Given the description of an element on the screen output the (x, y) to click on. 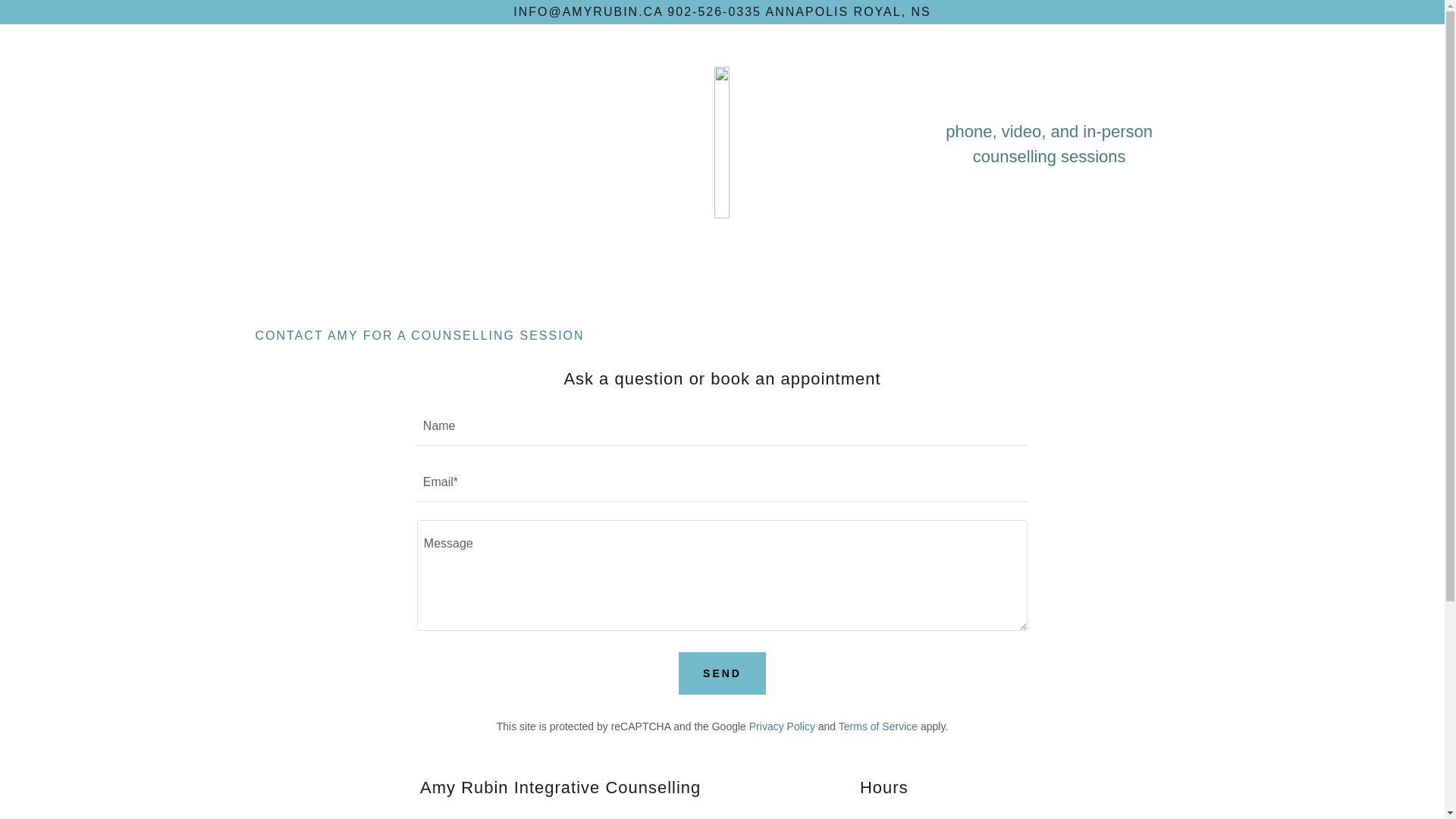
Privacy Policy Element type: text (782, 726)
Terms of Service Element type: text (877, 726)
SEND Element type: text (721, 673)
